Given the description of an element on the screen output the (x, y) to click on. 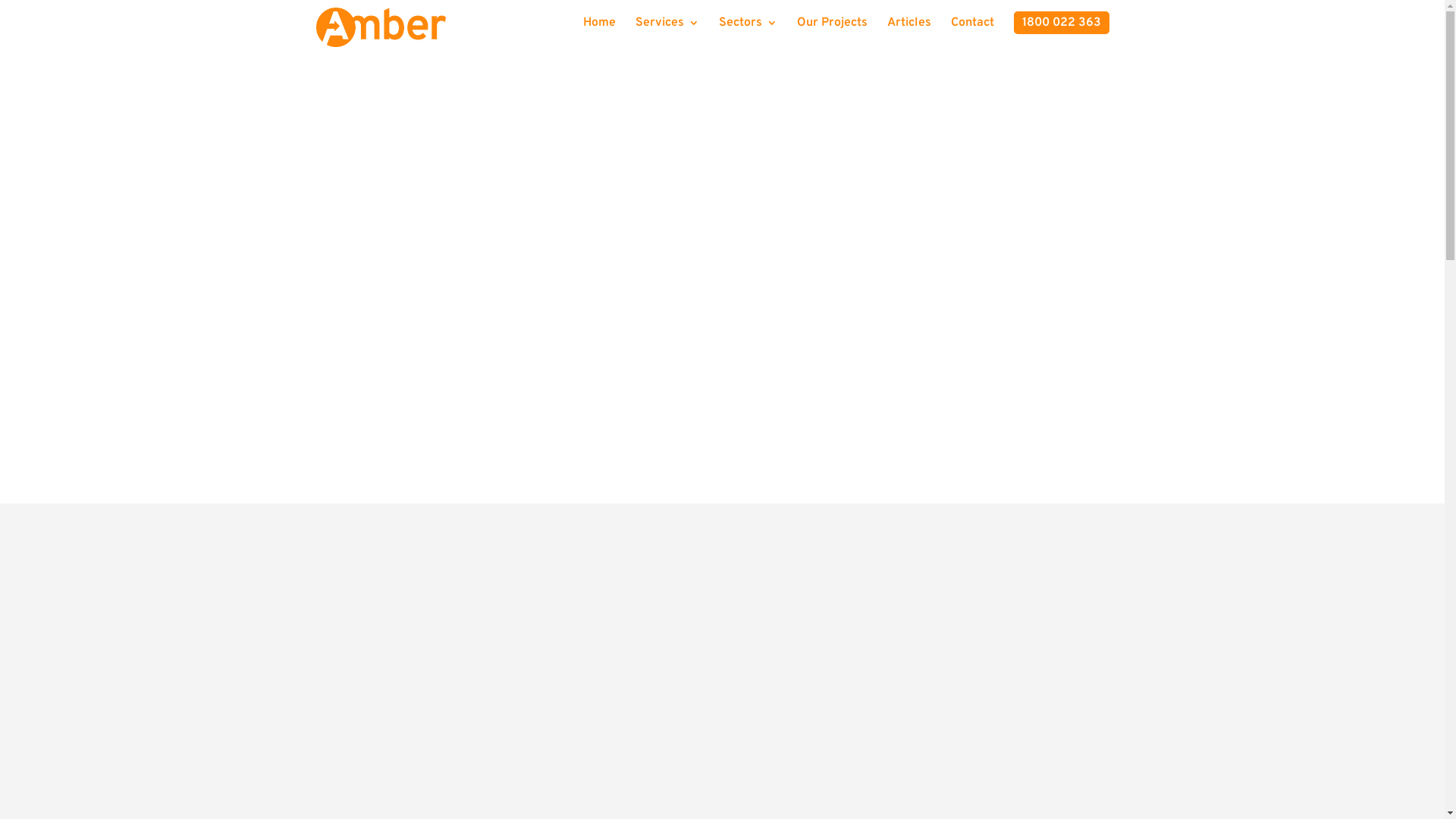
Home Element type: text (598, 28)
Our Projects Element type: text (831, 28)
1800 022 363 Element type: text (1060, 22)
Contact Element type: text (972, 28)
Services Element type: text (667, 28)
Articles Element type: text (909, 28)
Sectors Element type: text (747, 28)
